Given the description of an element on the screen output the (x, y) to click on. 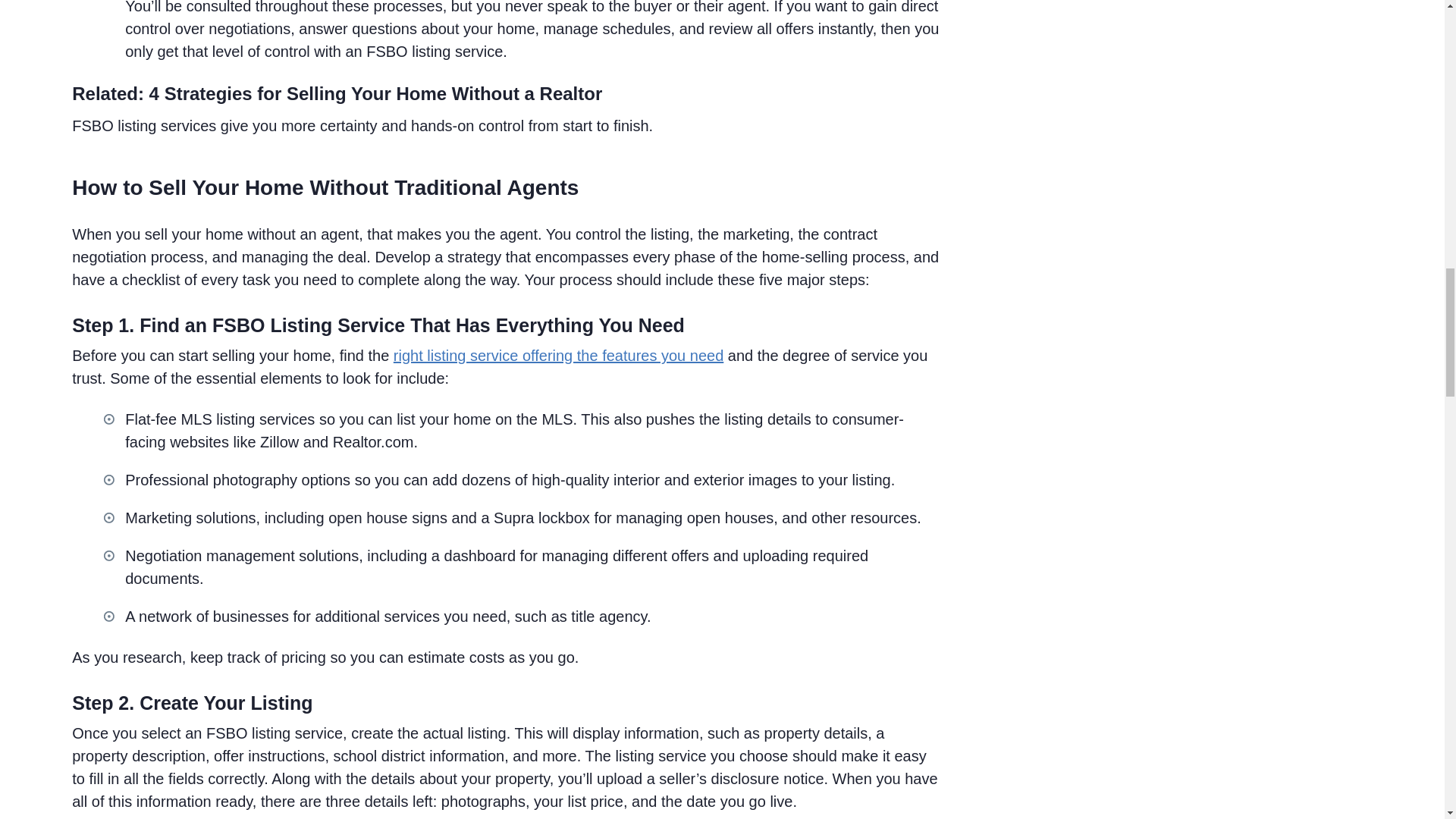
4 Strategies for Selling Your Home Without a Realtor (375, 93)
